Given the description of an element on the screen output the (x, y) to click on. 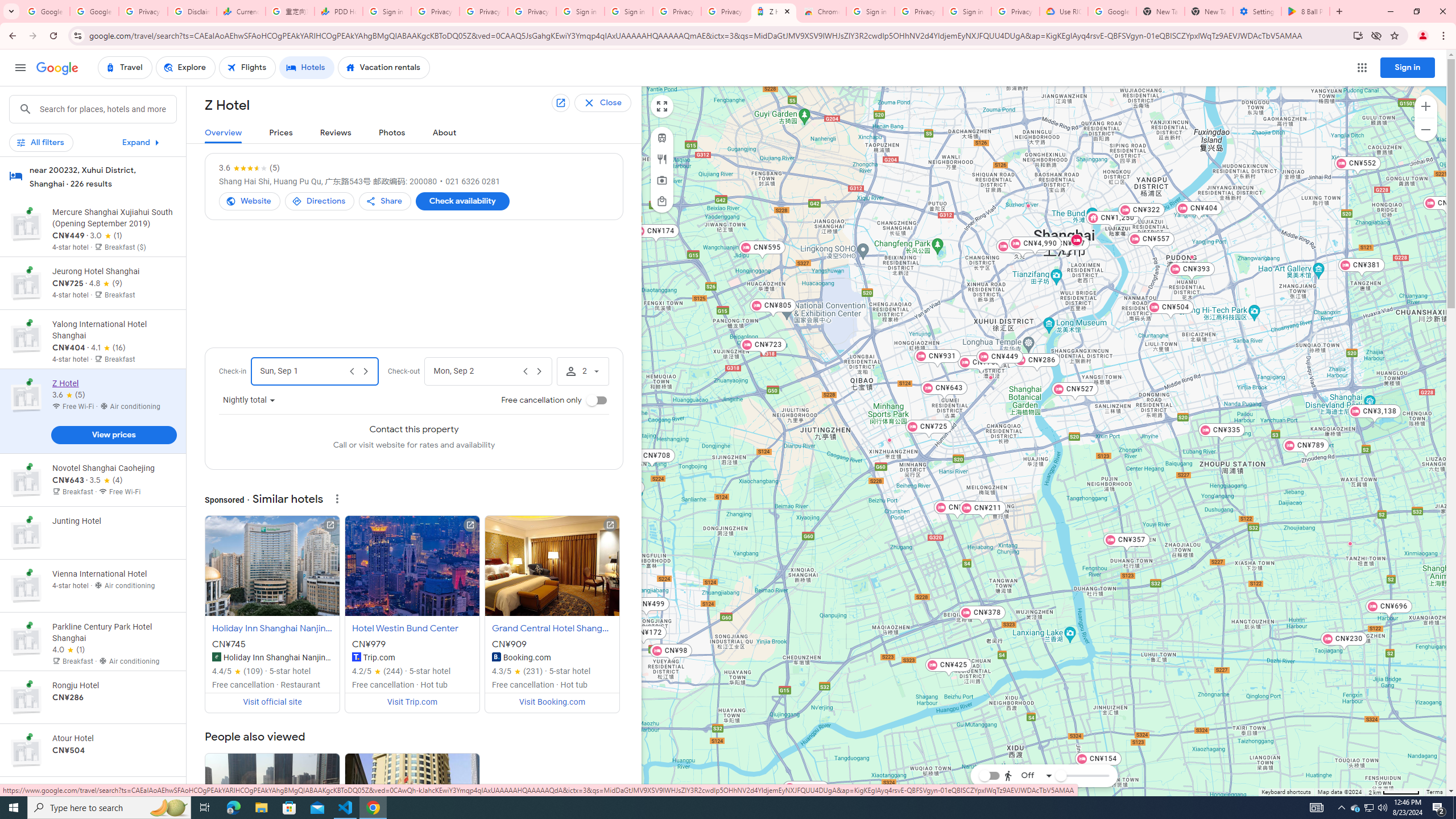
View prices for Parkline Century Park Hotel Shanghai (113, 683)
Prices (280, 133)
View prices for Novotel Shanghai Caohejing (113, 520)
Open in new tab (560, 103)
Areas for shopping (661, 201)
Travel (124, 67)
